Given the description of an element on the screen output the (x, y) to click on. 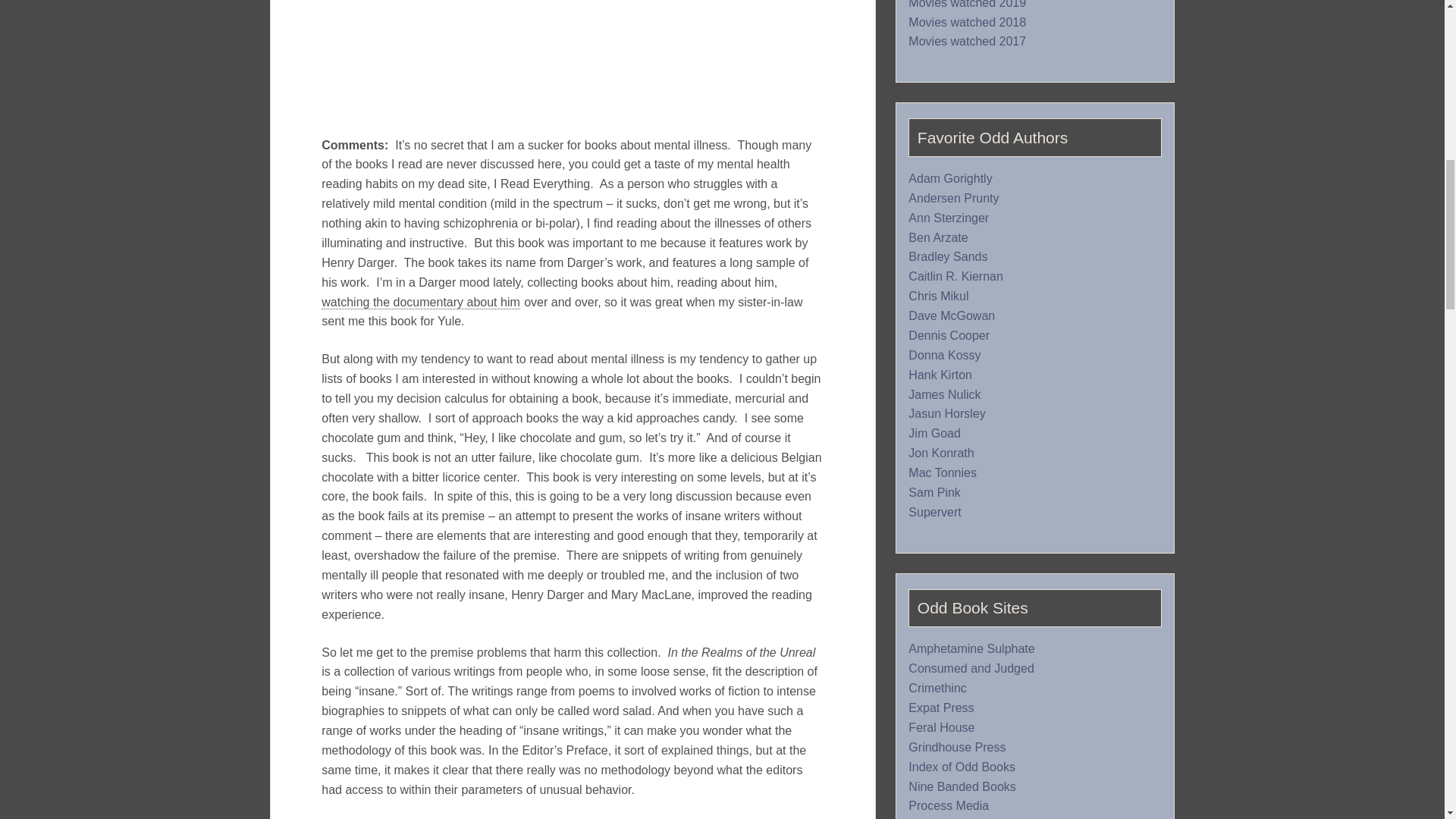
watching the documentary about him (420, 302)
